Given the description of an element on the screen output the (x, y) to click on. 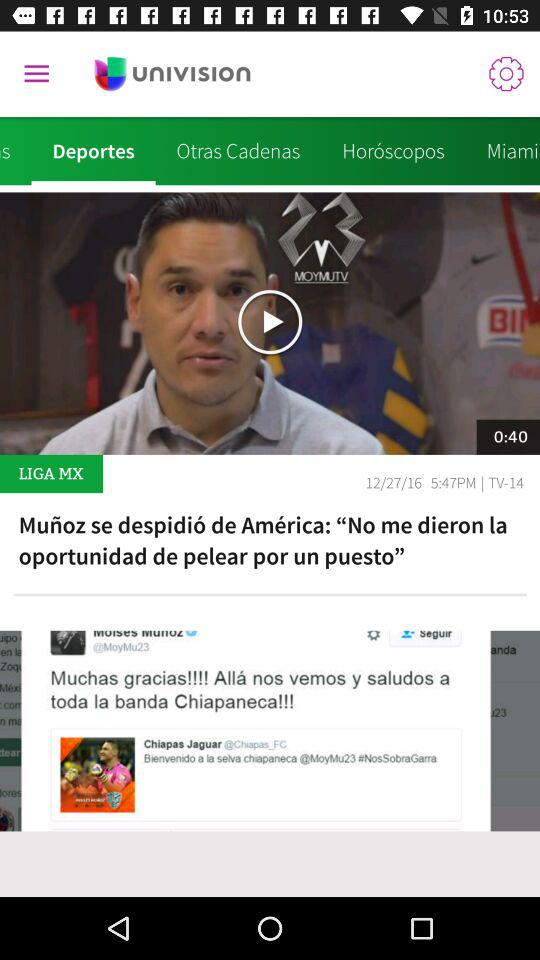
open the item next to the deportes (238, 151)
